Given the description of an element on the screen output the (x, y) to click on. 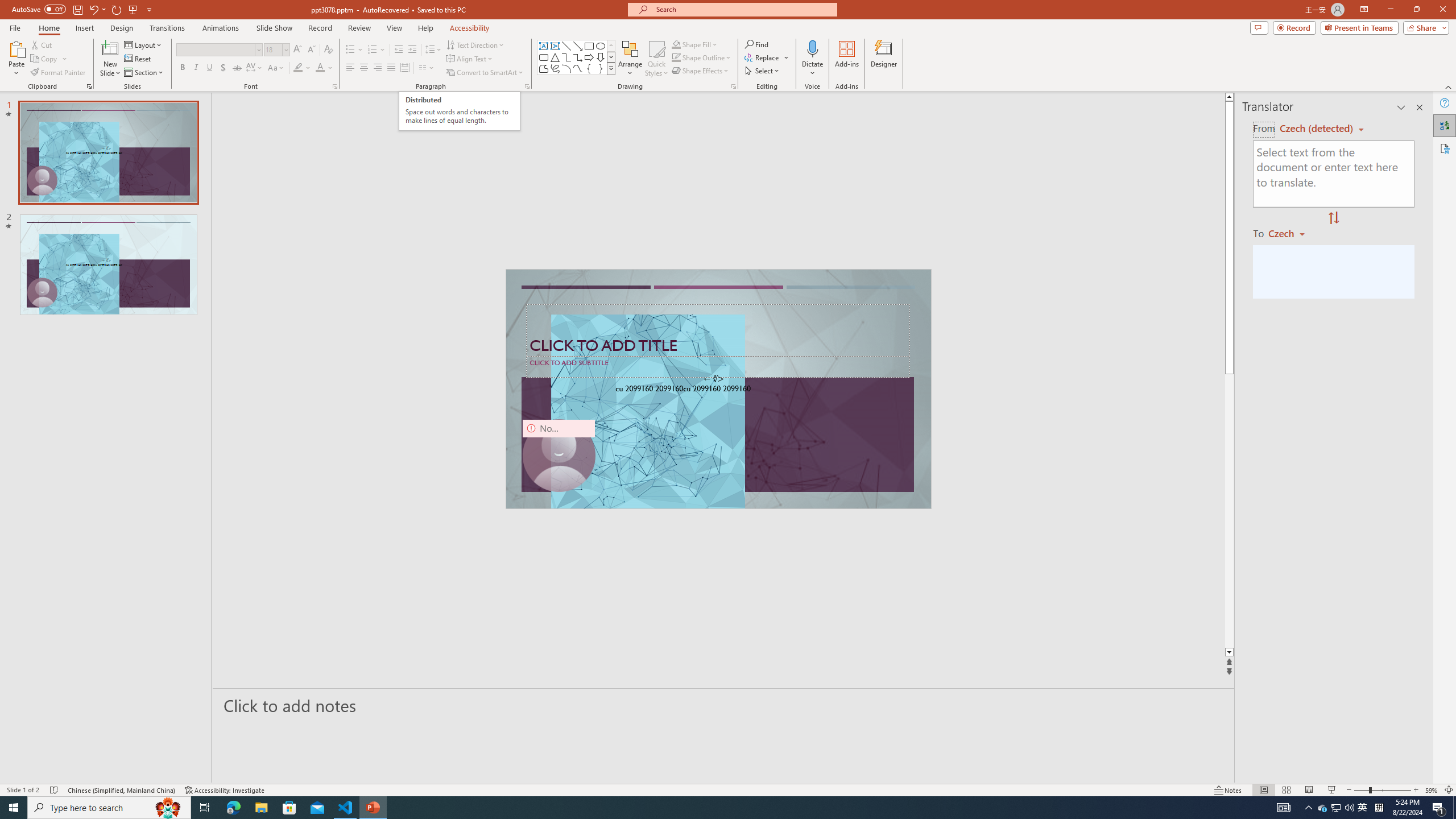
An abstract genetic concept (718, 388)
